Given the description of an element on the screen output the (x, y) to click on. 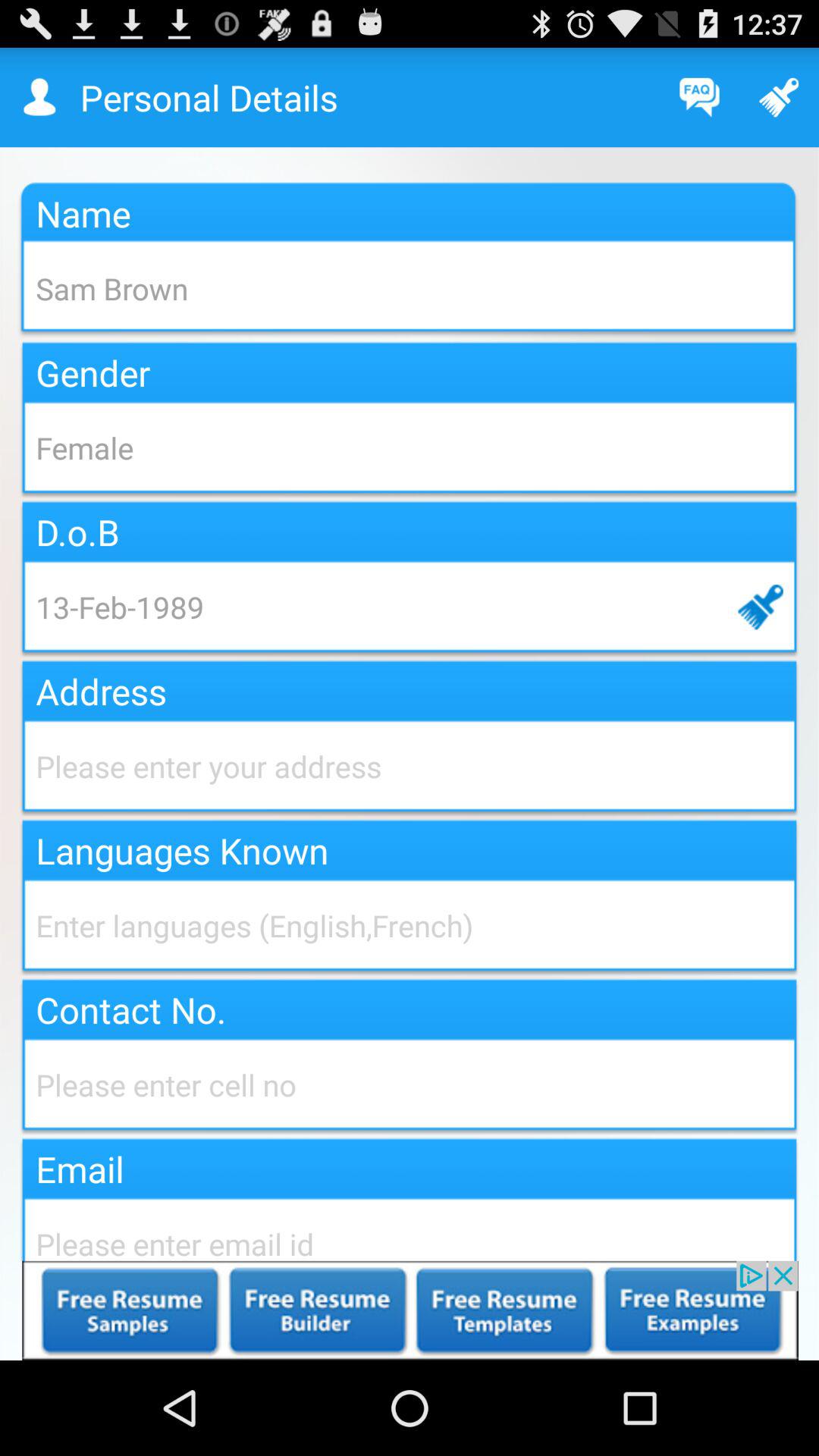
enter your address (409, 766)
